Given the description of an element on the screen output the (x, y) to click on. 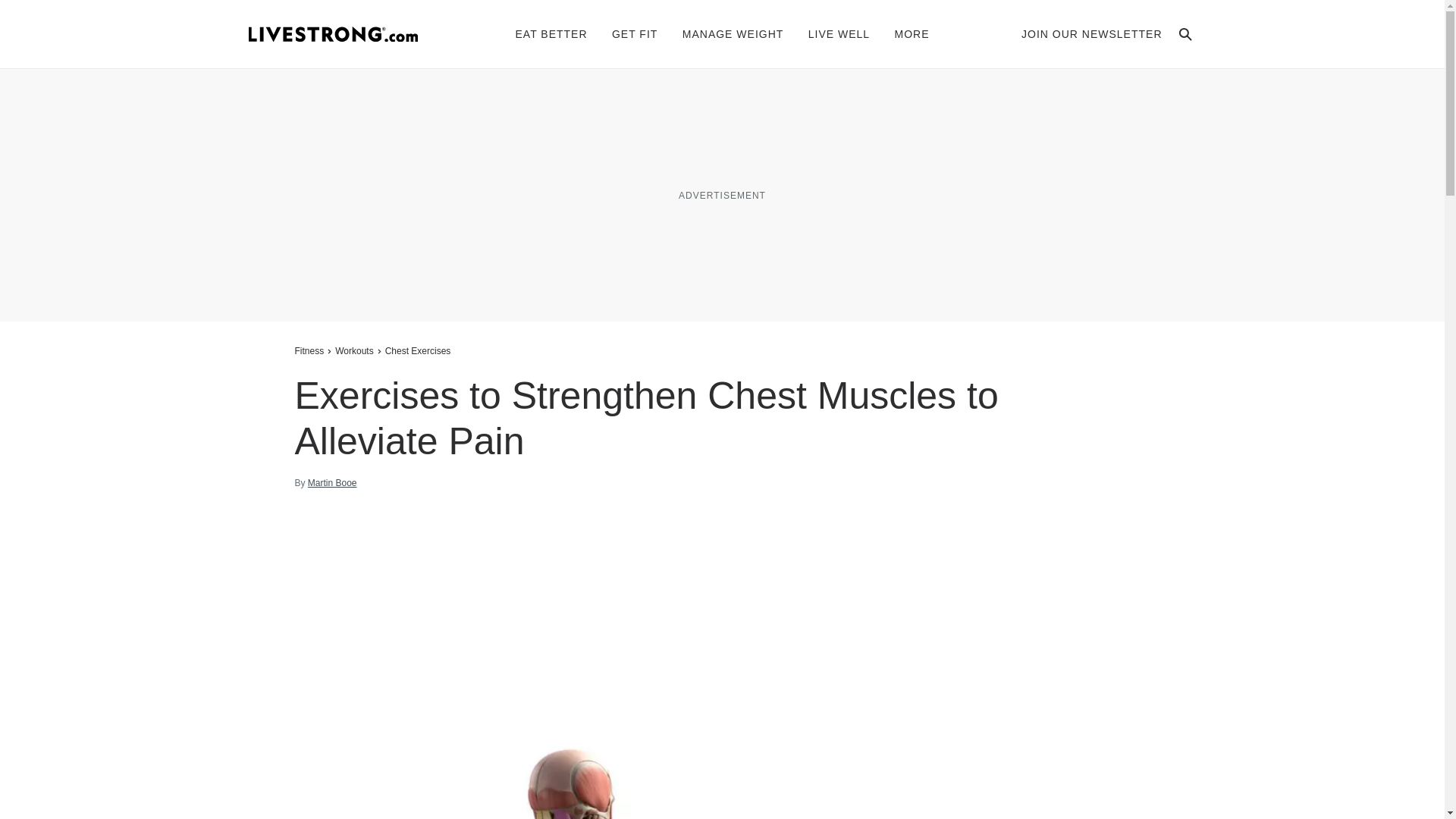
Chest Exercises (417, 350)
MANAGE WEIGHT (733, 33)
JOIN OUR NEWSLETTER (1091, 33)
Workouts (354, 350)
GET FIT (634, 33)
LIVE WELL (838, 33)
3rd party ad content (721, 194)
Fitness (310, 350)
3rd party ad content (1035, 776)
EAT BETTER (551, 33)
